Given the description of an element on the screen output the (x, y) to click on. 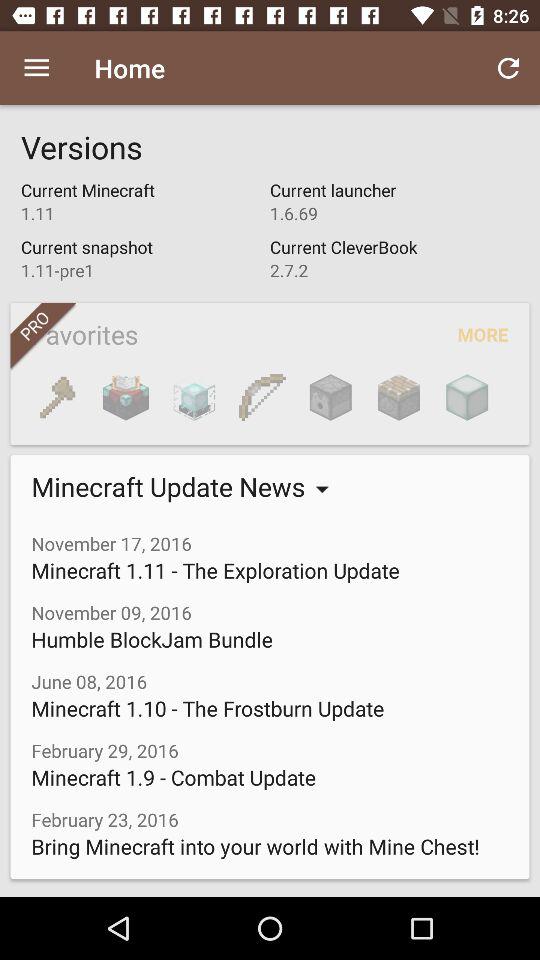
click the item above versions item (36, 68)
